Given the description of an element on the screen output the (x, y) to click on. 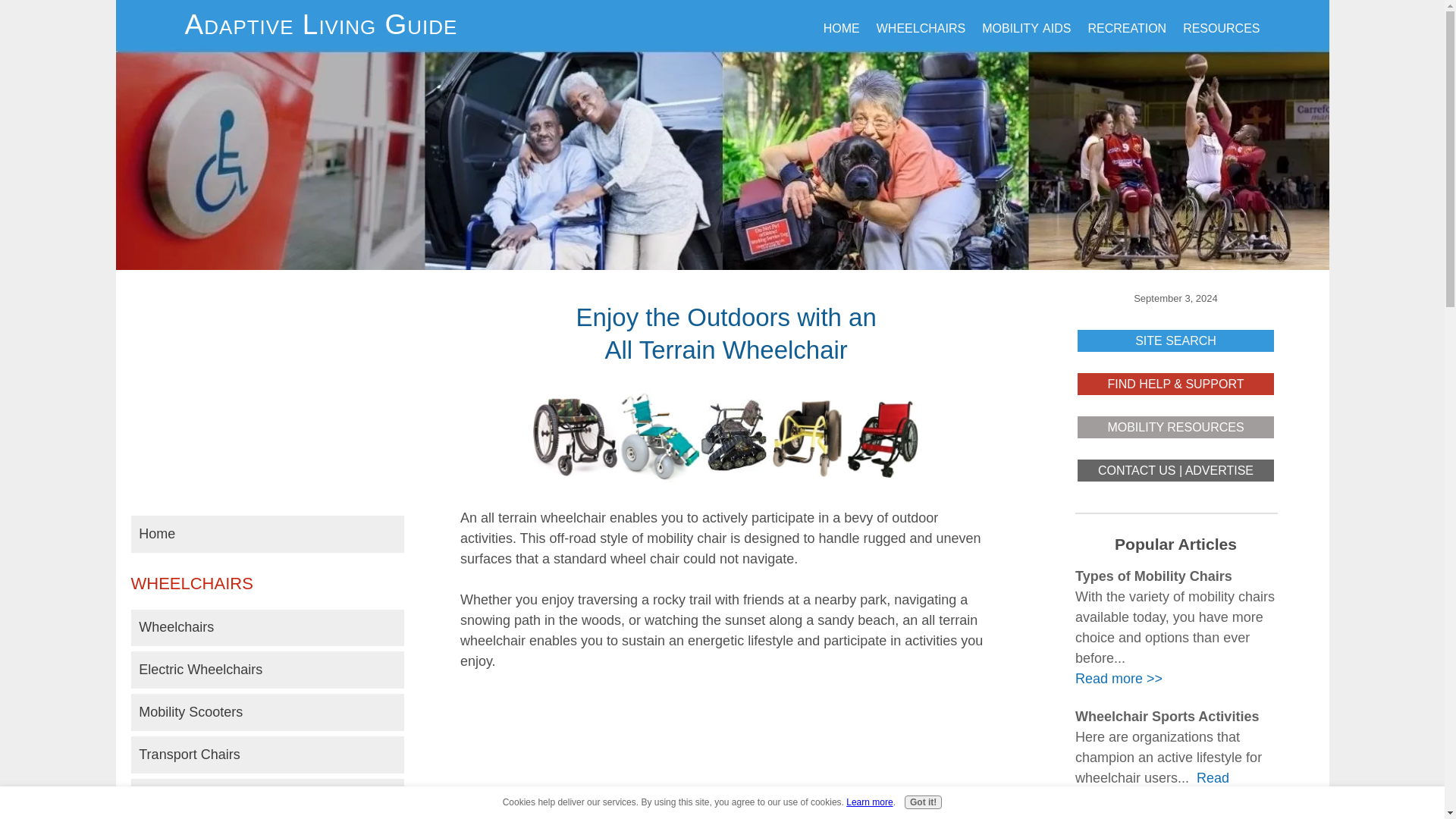
all terrain wheelchair (726, 436)
HOME (841, 27)
Adaptive Living Guide (320, 24)
Advertisement (267, 395)
Advertisement (726, 755)
